Given the description of an element on the screen output the (x, y) to click on. 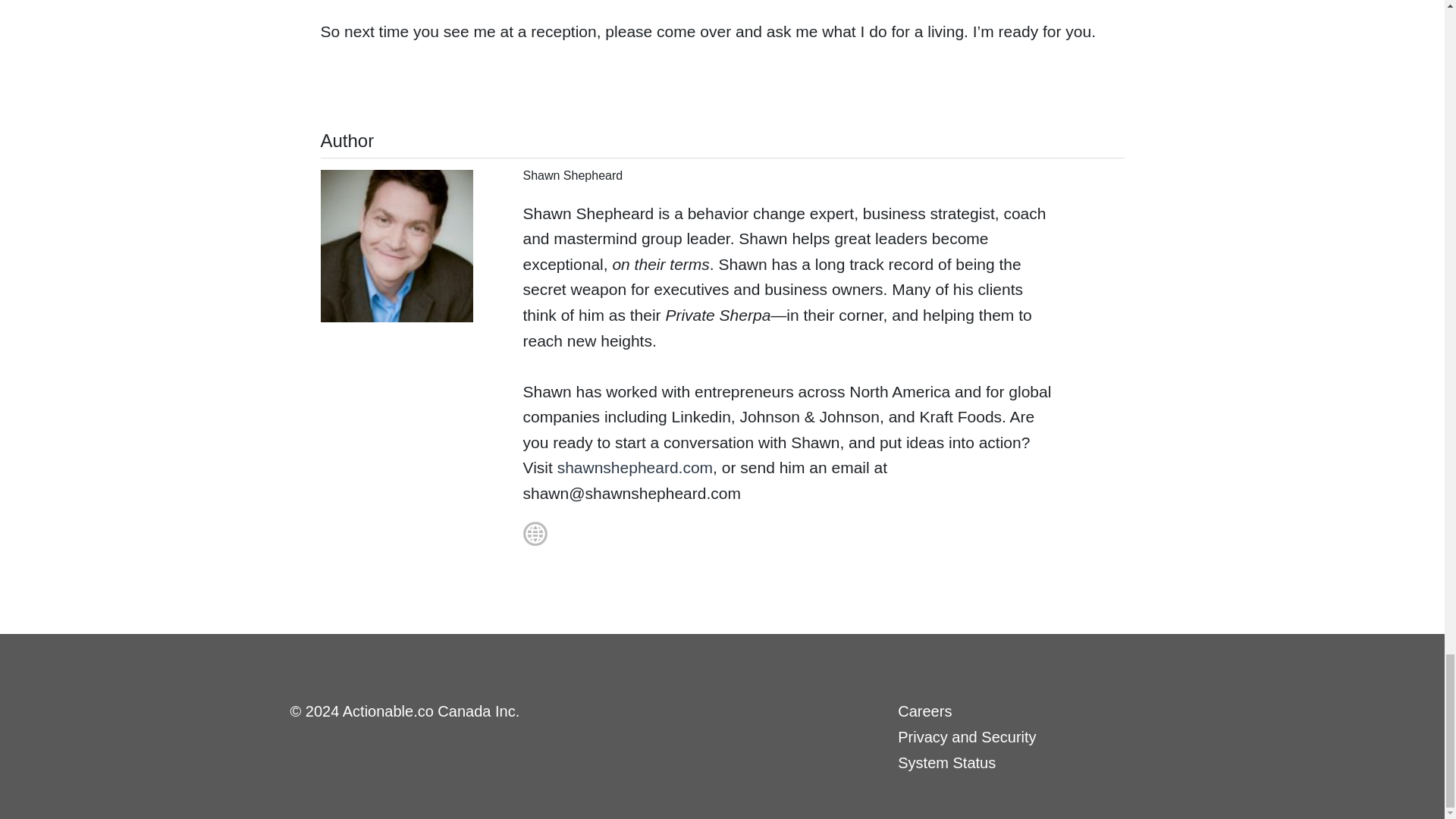
Privacy and Security (966, 736)
shawnshepheard.com (635, 466)
Shawn Shepheard's website (520, 545)
Careers (925, 710)
System Status (946, 762)
